Given the description of an element on the screen output the (x, y) to click on. 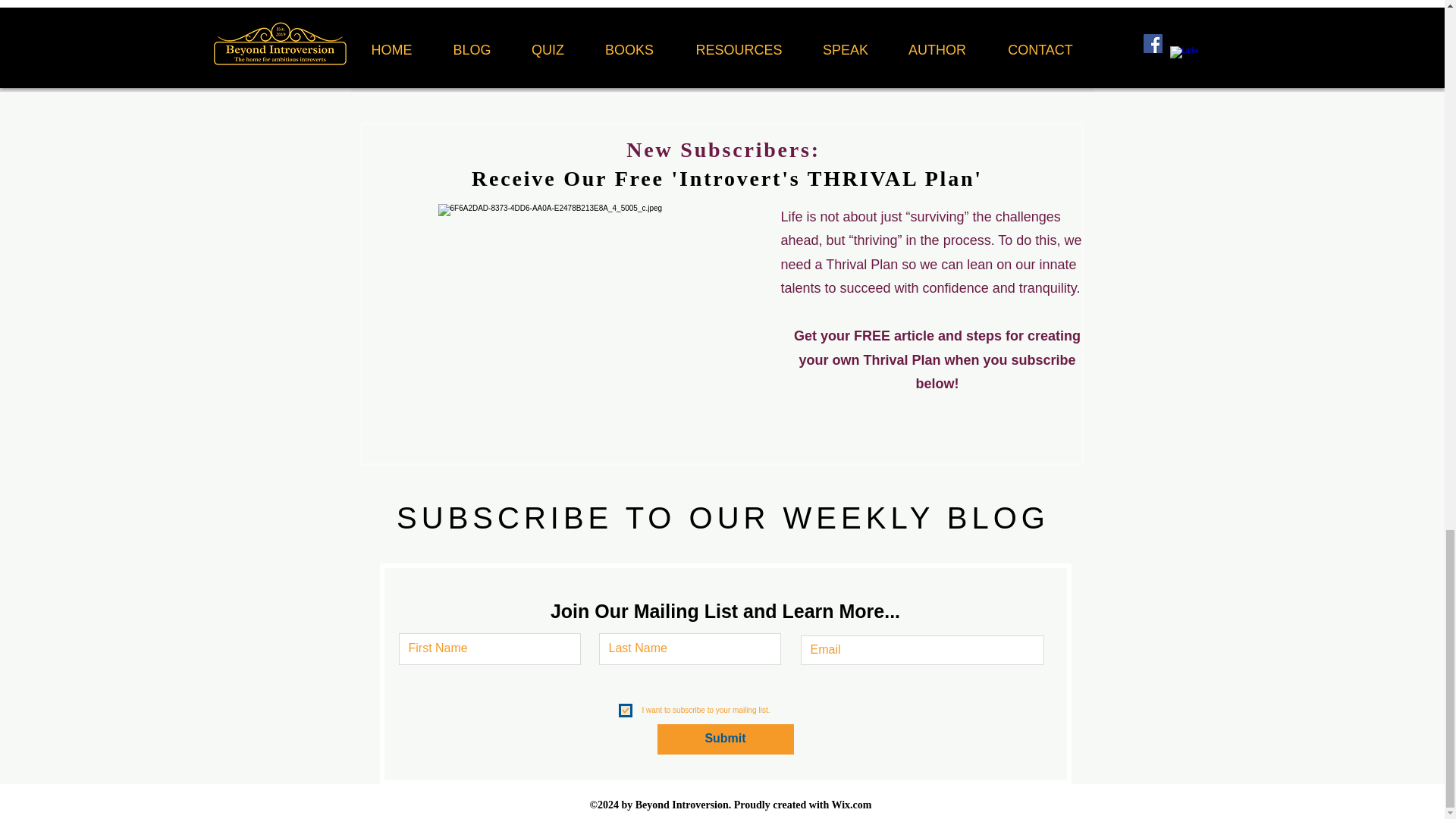
Submit (724, 738)
